Given the description of an element on the screen output the (x, y) to click on. 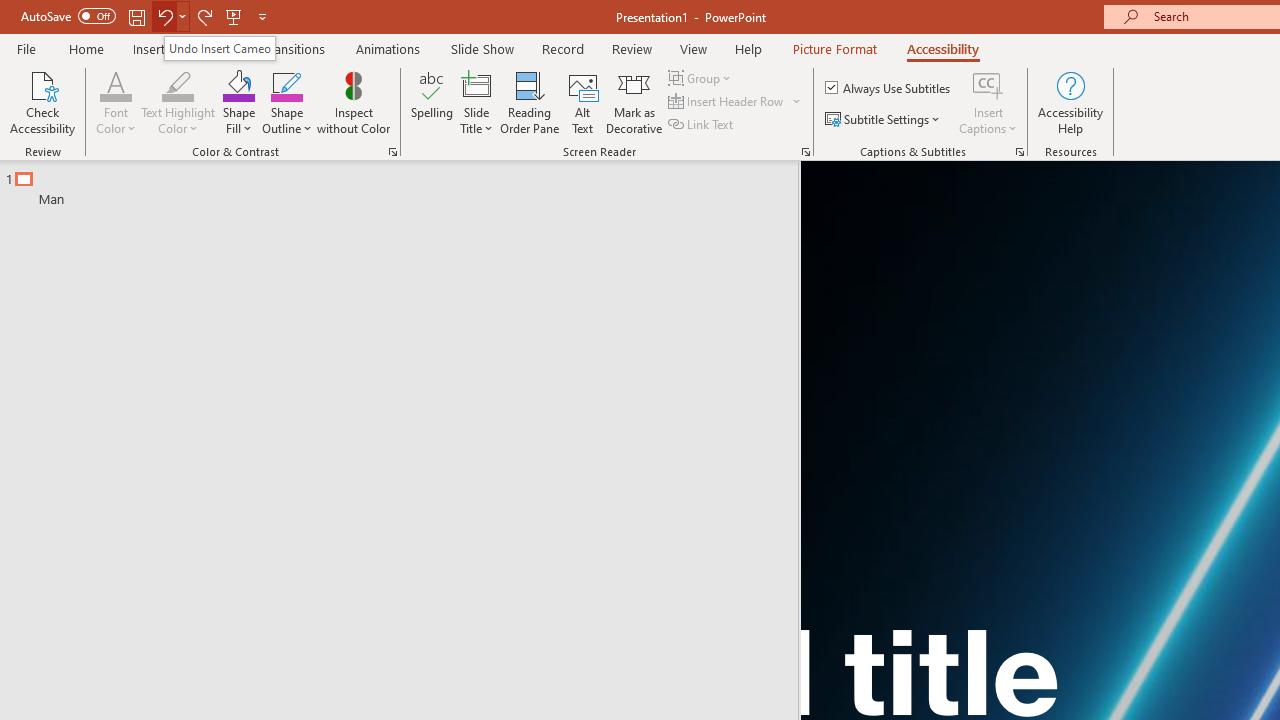
Insert Header Row (735, 101)
Inspect without Color (353, 102)
Insert Captions (988, 102)
Group (701, 78)
Captions & Subtitles (1019, 151)
Reading Order Pane (529, 102)
Link Text (702, 124)
